Given the description of an element on the screen output the (x, y) to click on. 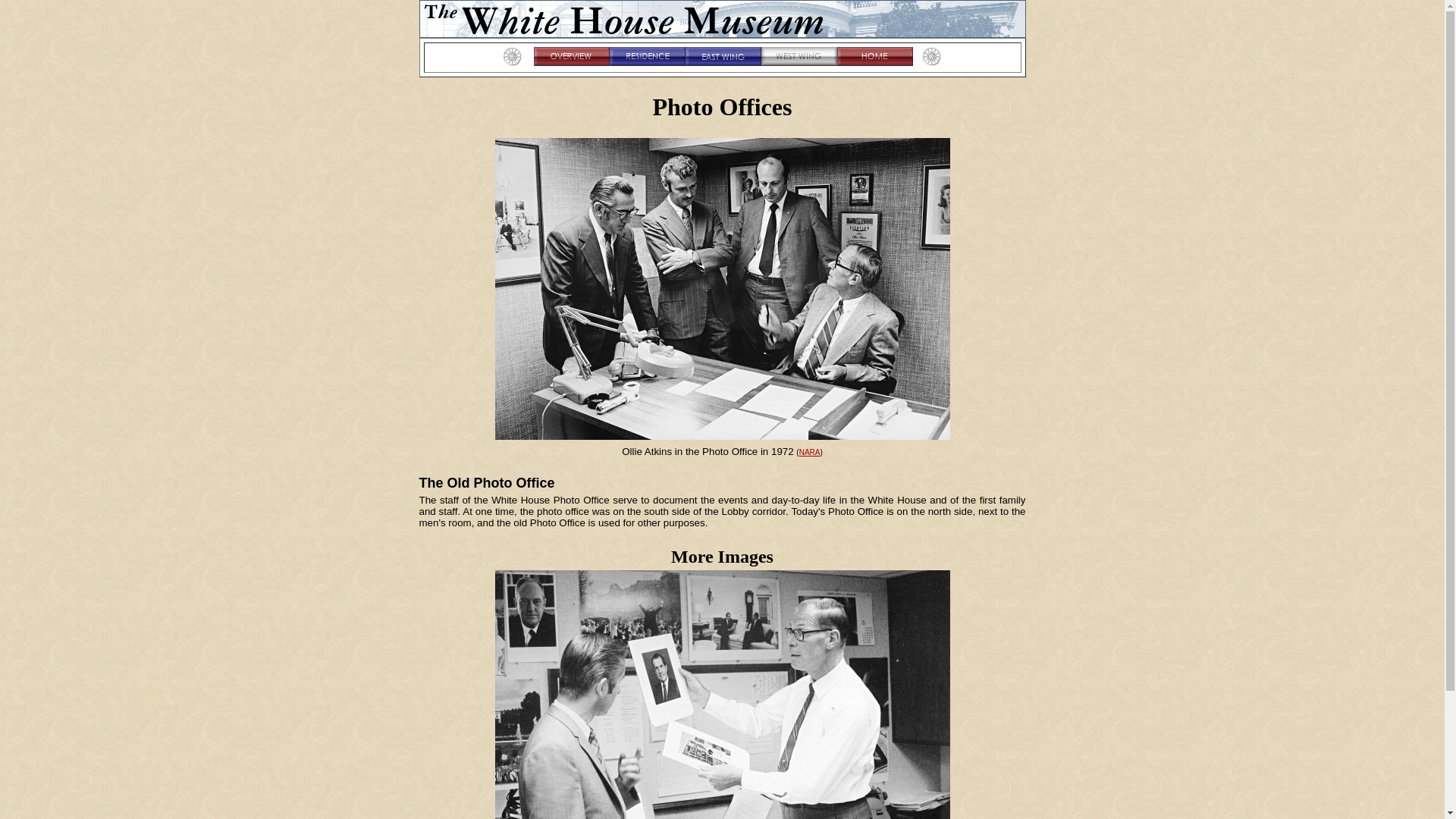
NARA (810, 451)
White House Museum (722, 18)
Photo Office (722, 694)
